Given the description of an element on the screen output the (x, y) to click on. 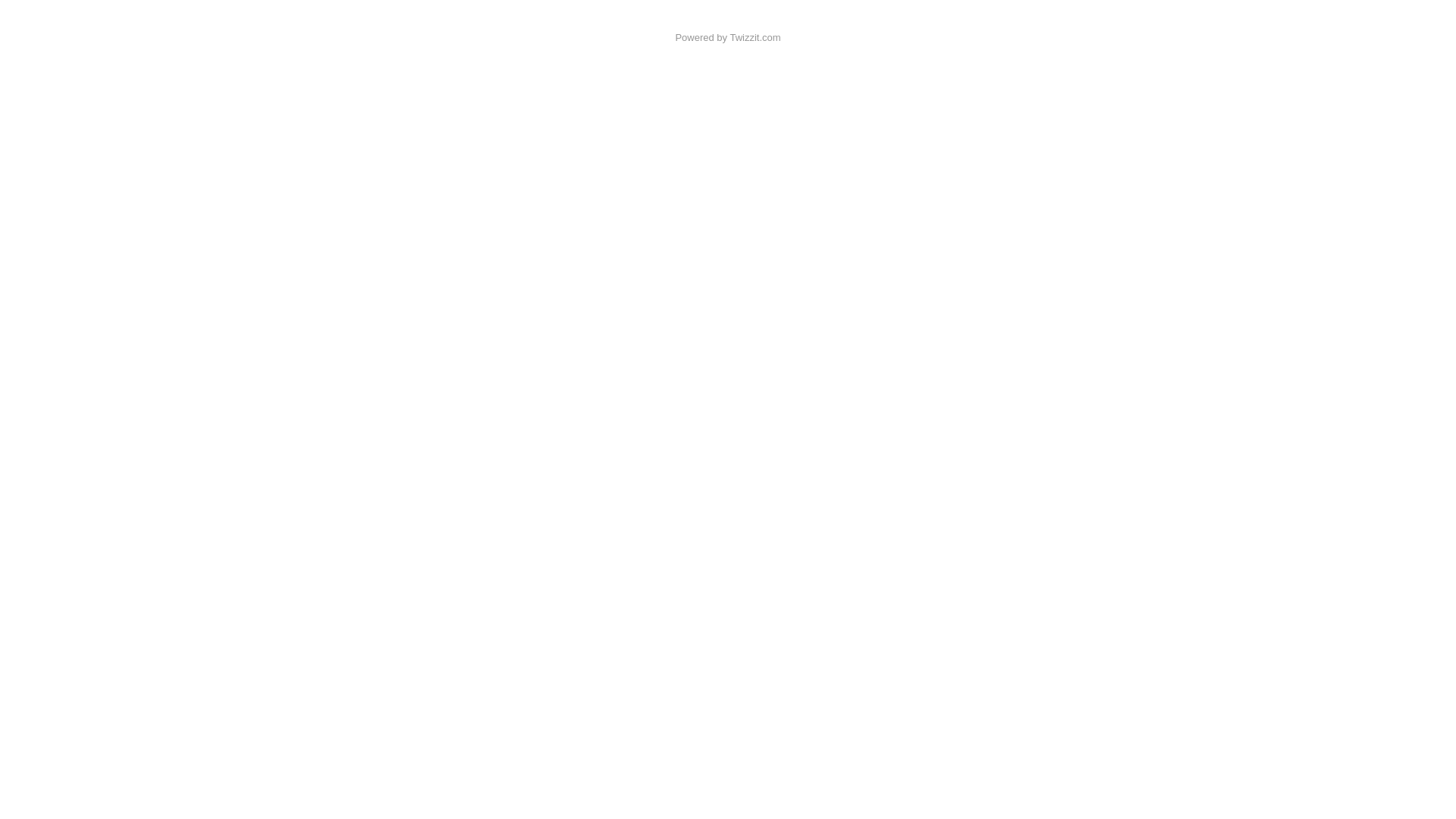
Twizzit.com Element type: text (754, 37)
